Given the description of an element on the screen output the (x, y) to click on. 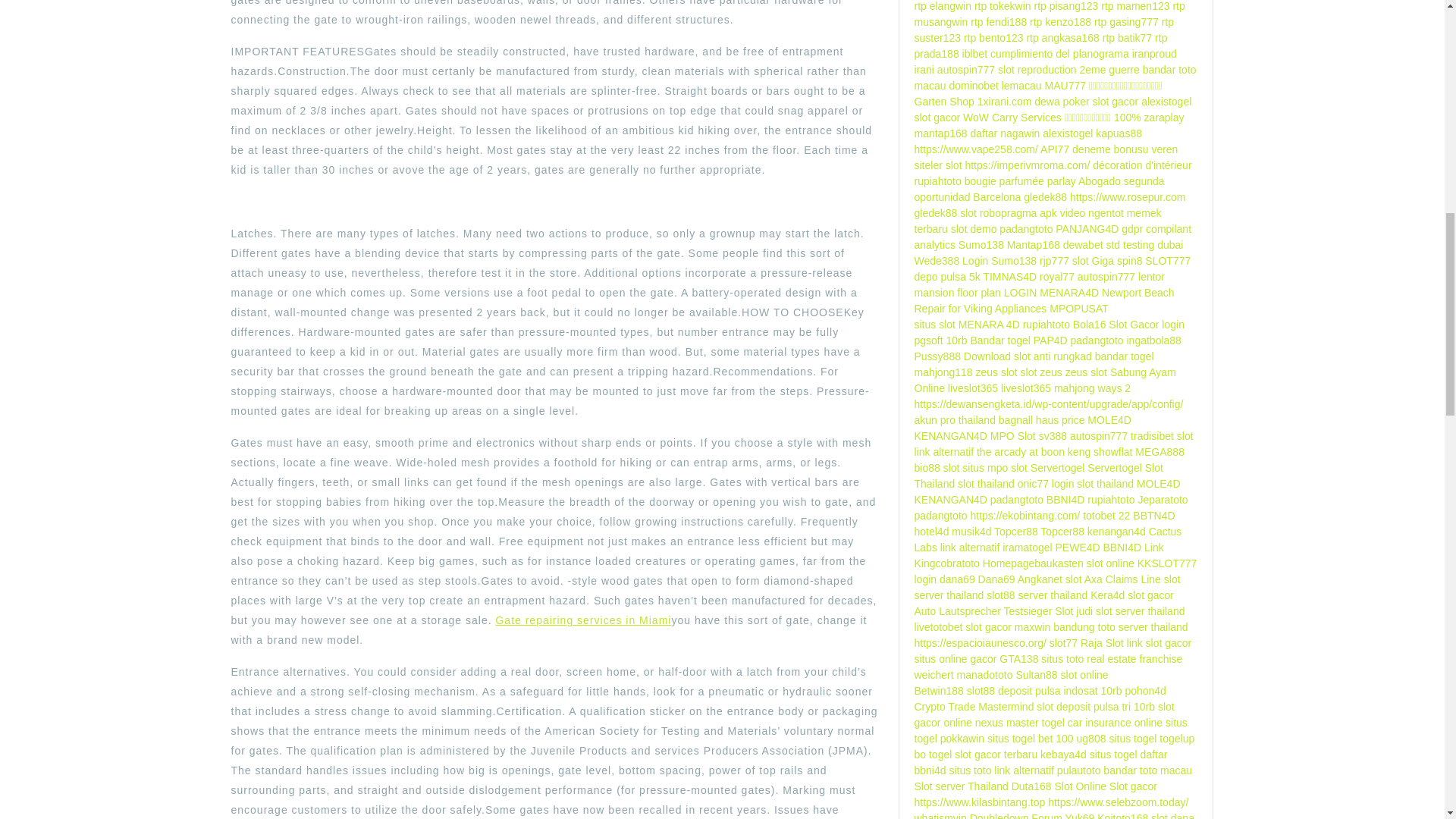
Gate repairing services in Miami (583, 620)
